Given the description of an element on the screen output the (x, y) to click on. 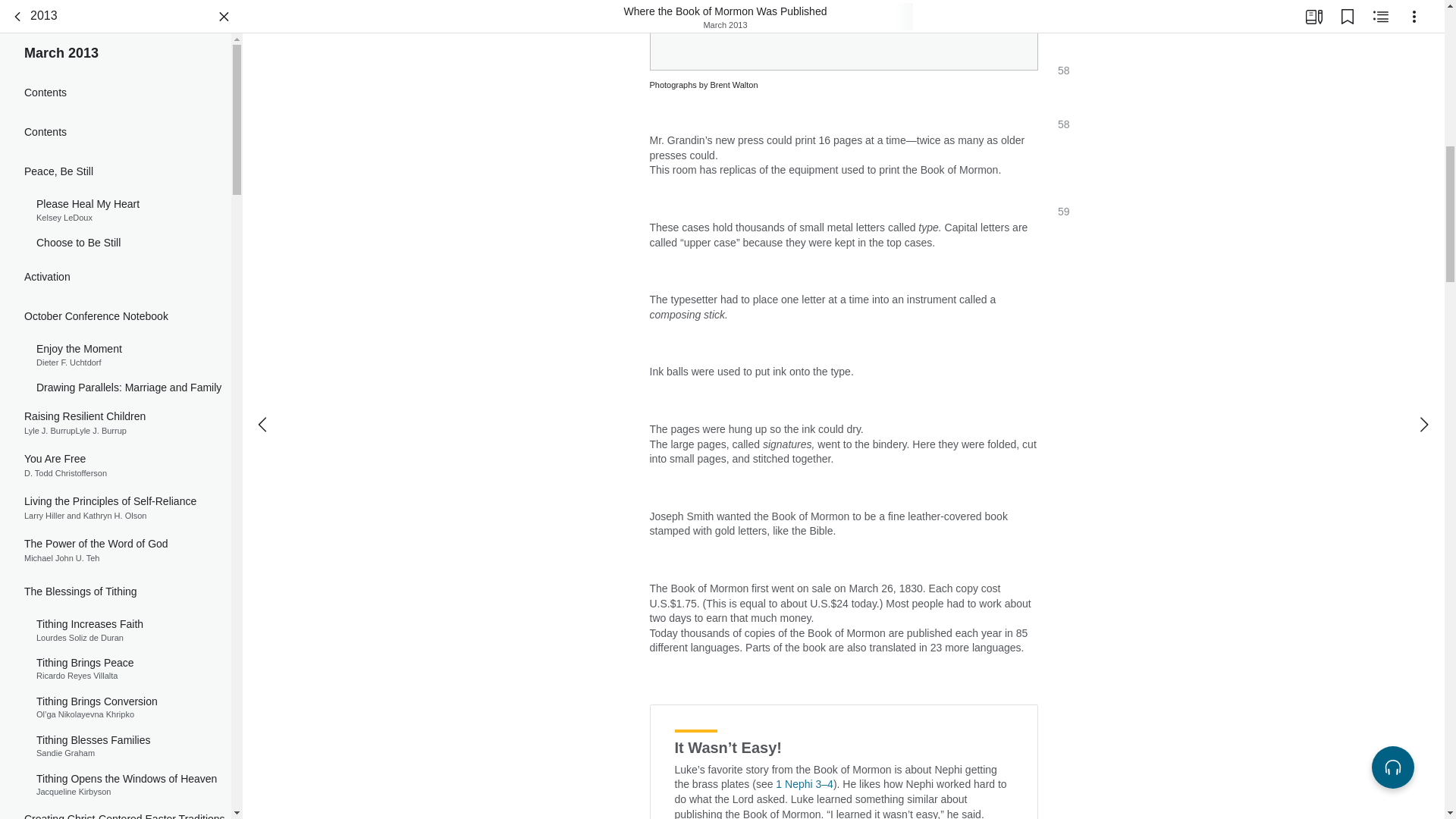
Grandin Press pictures (842, 38)
What Happens after We Die? (115, 653)
Young Adults (115, 307)
To the Point (115, 384)
